Given the description of an element on the screen output the (x, y) to click on. 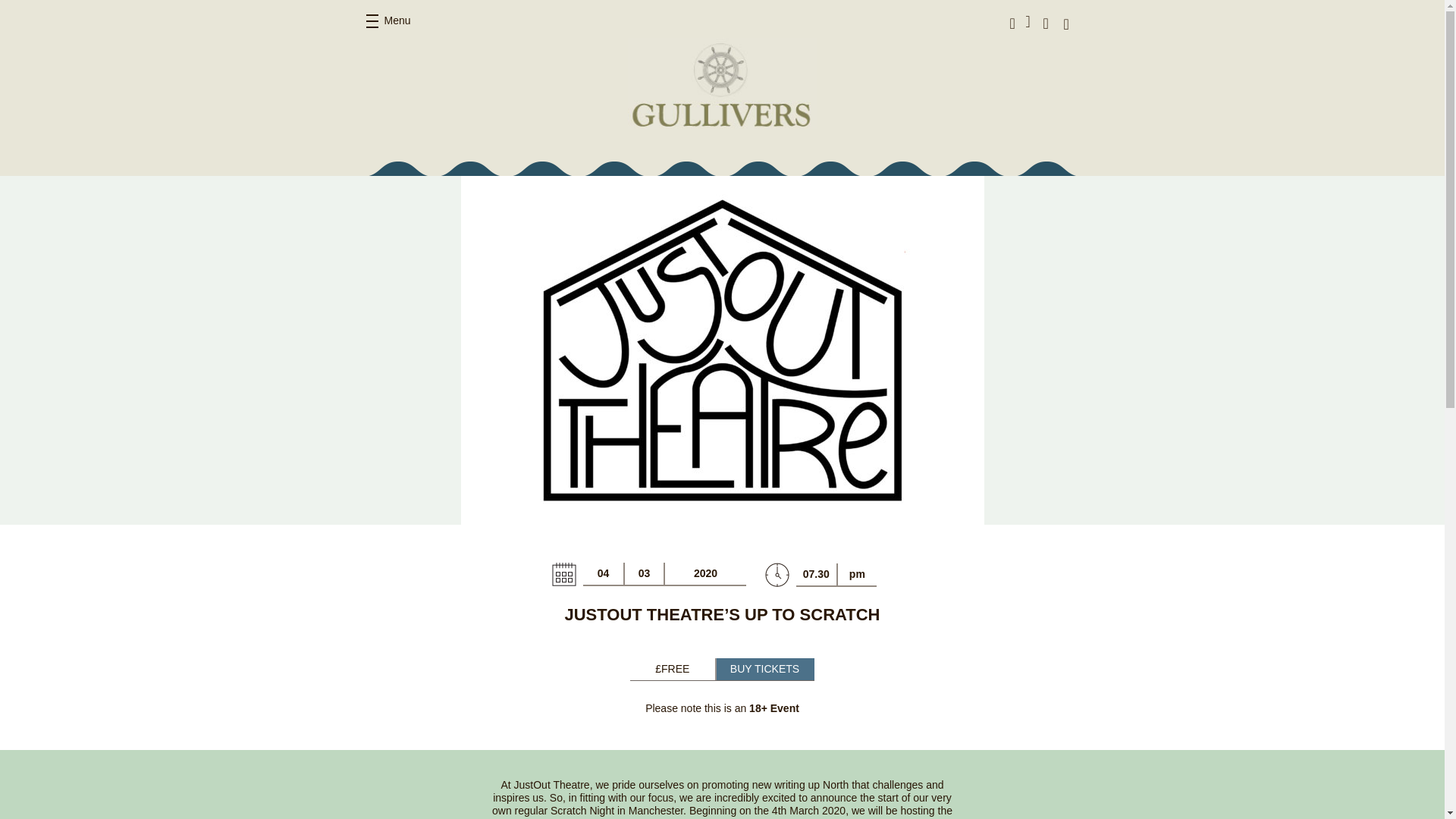
submit (1125, 22)
BUY TICKETS (763, 669)
Menu (387, 20)
